Given the description of an element on the screen output the (x, y) to click on. 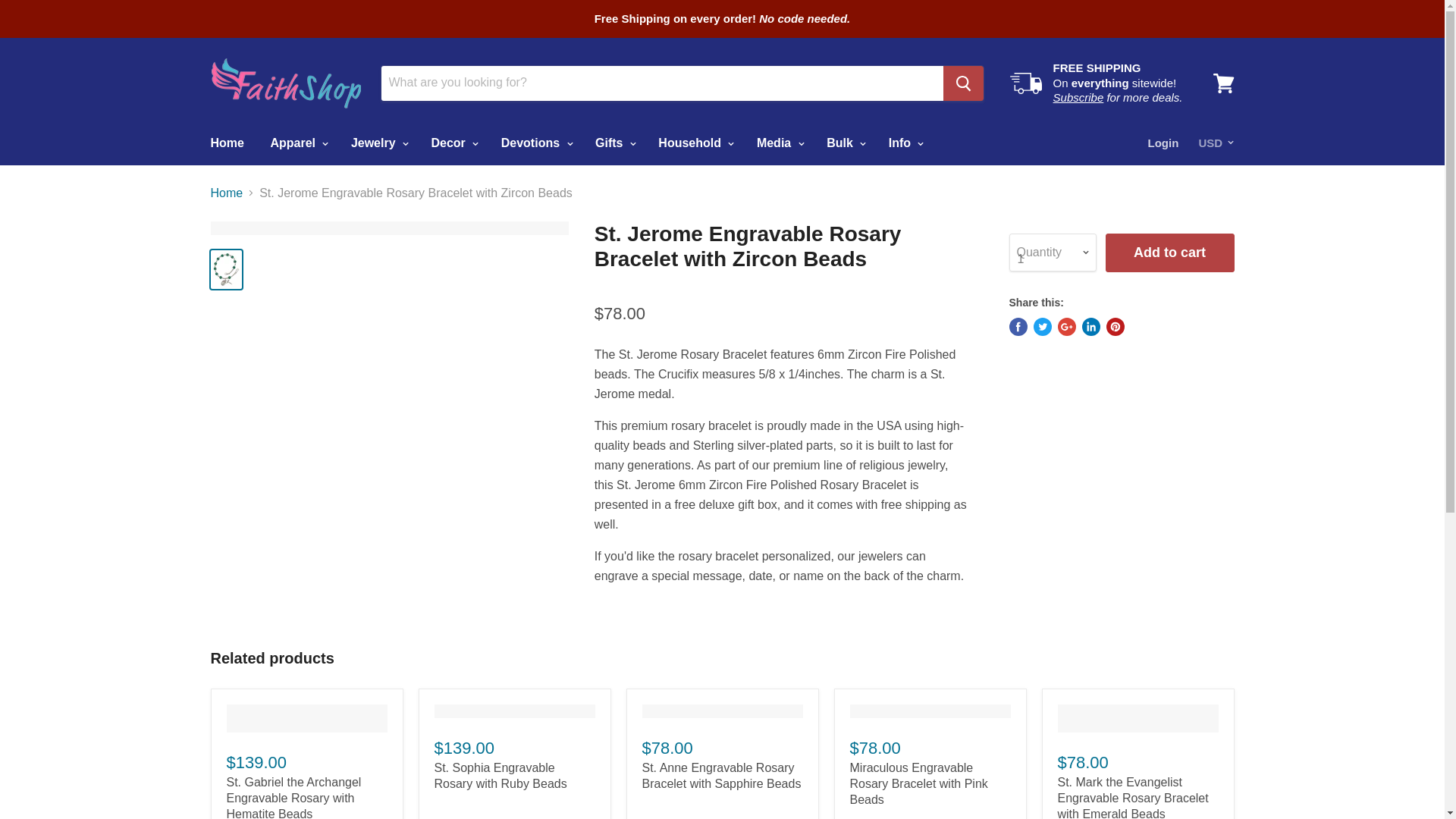
View cart (1223, 82)
Home (226, 142)
Apparel (297, 142)
Subscribe (1077, 97)
